Given the description of an element on the screen output the (x, y) to click on. 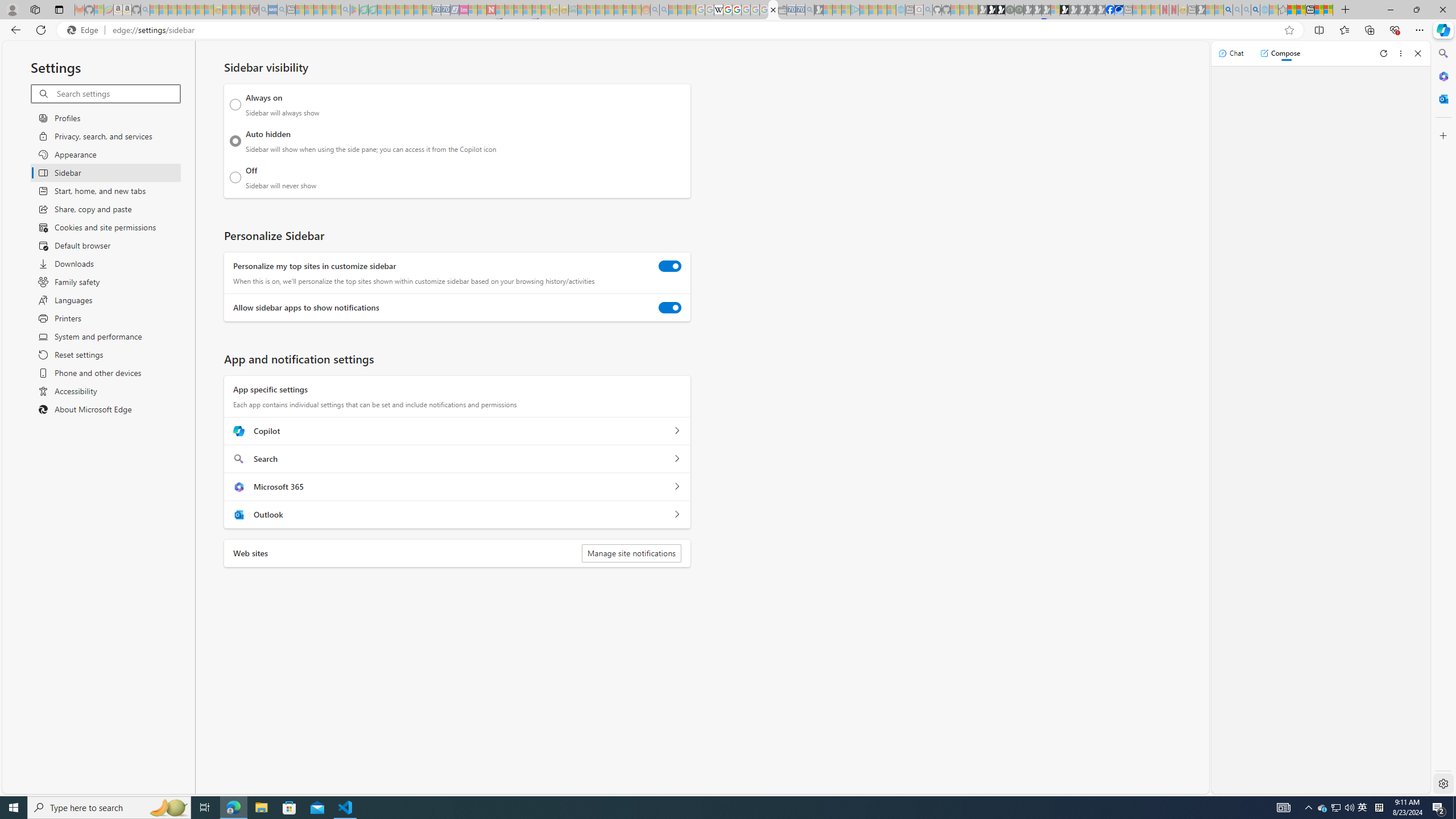
Personalize my top sites in customize sidebar (669, 265)
Bing AI - Search (1227, 9)
